Given the description of an element on the screen output the (x, y) to click on. 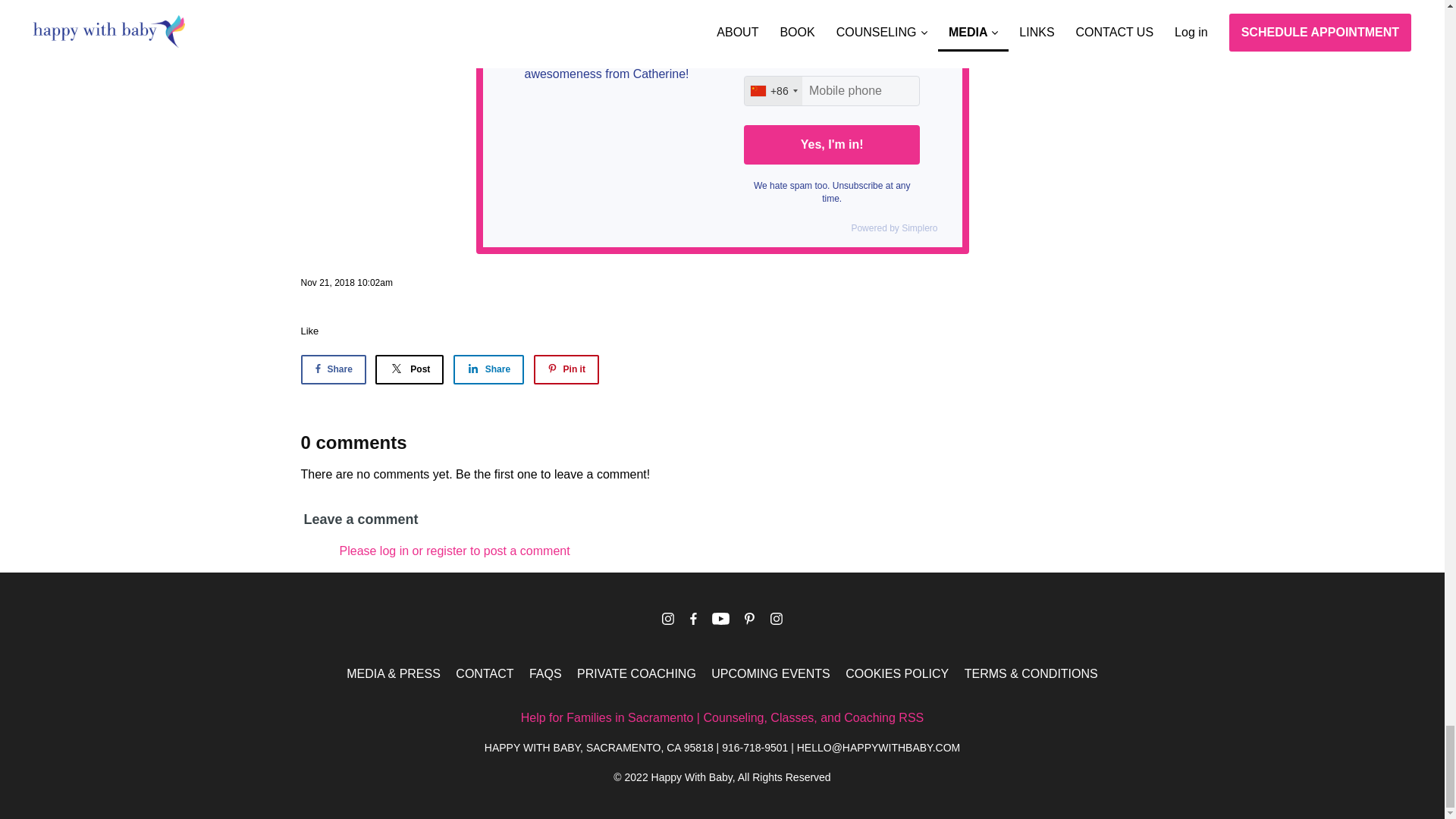
Share on LinkedIn (488, 369)
Post on X (409, 369)
Yes, I'm in! (832, 144)
Share on Facebook (332, 369)
Pin on Pinterest (566, 369)
Instagram (667, 618)
Youtube (720, 618)
Instagram (776, 618)
